Given the description of an element on the screen output the (x, y) to click on. 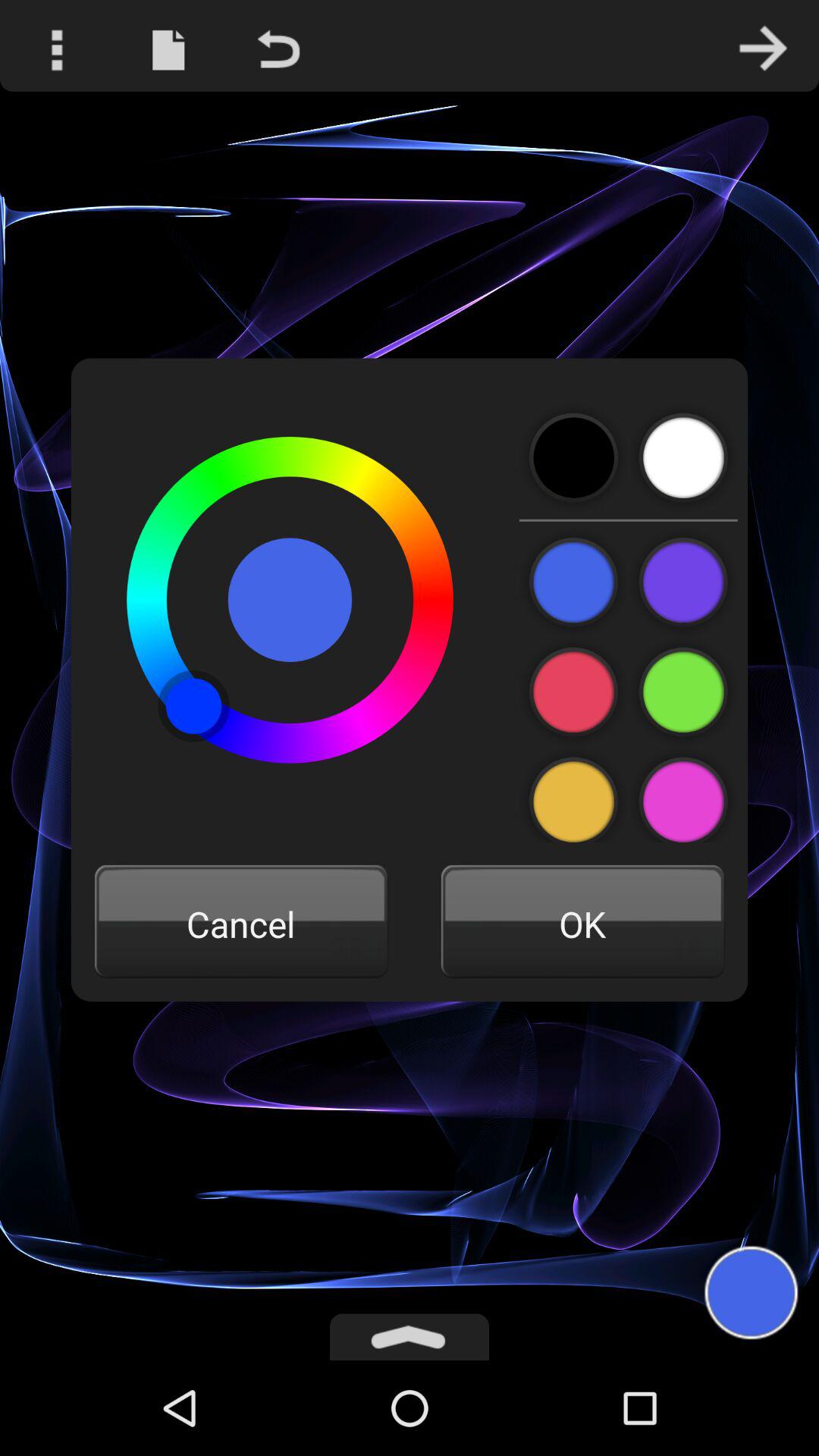
select color (683, 458)
